Given the description of an element on the screen output the (x, y) to click on. 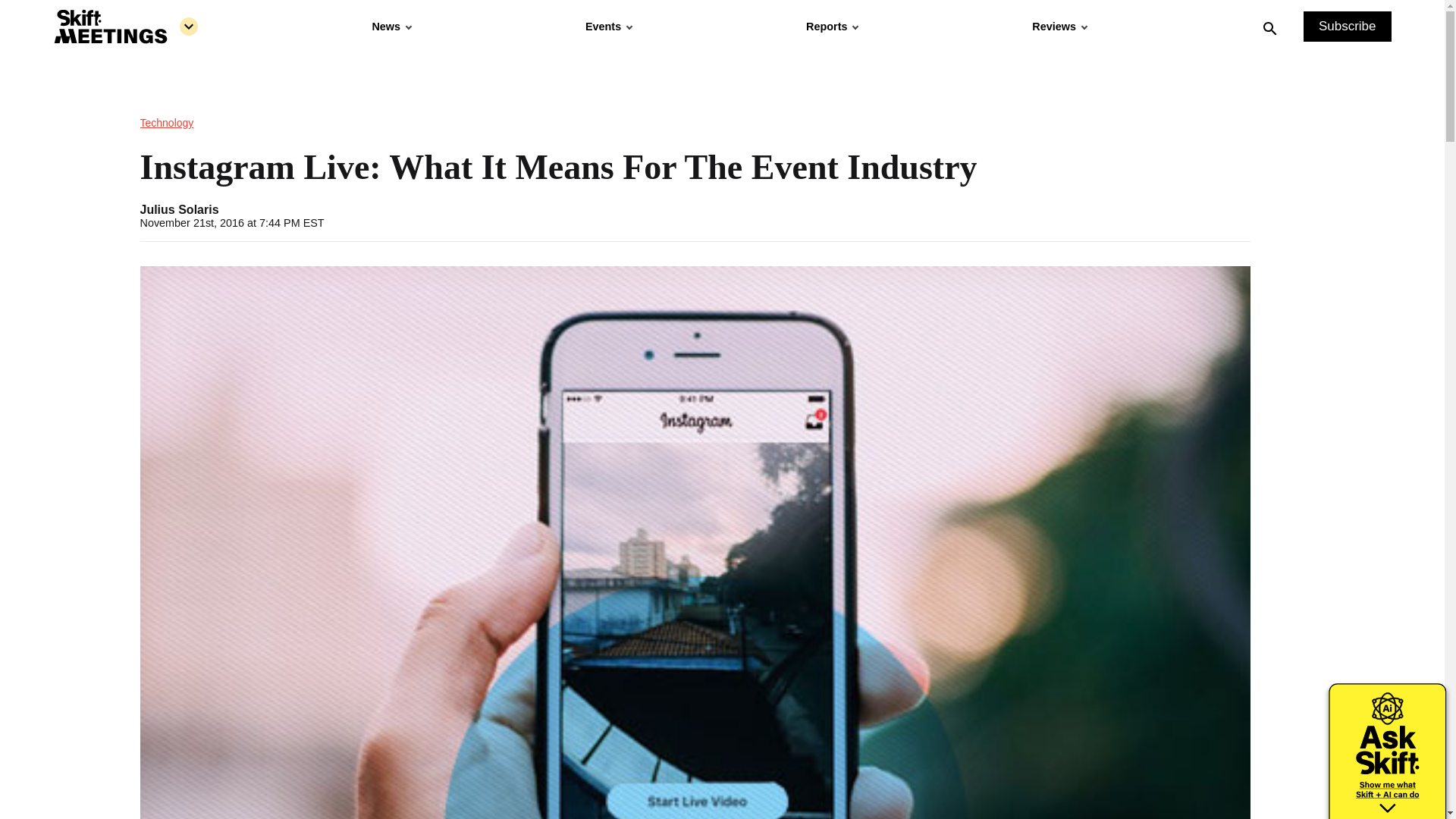
Reports (831, 26)
Reviews (1059, 26)
Subscribe (1347, 26)
